Given the description of an element on the screen output the (x, y) to click on. 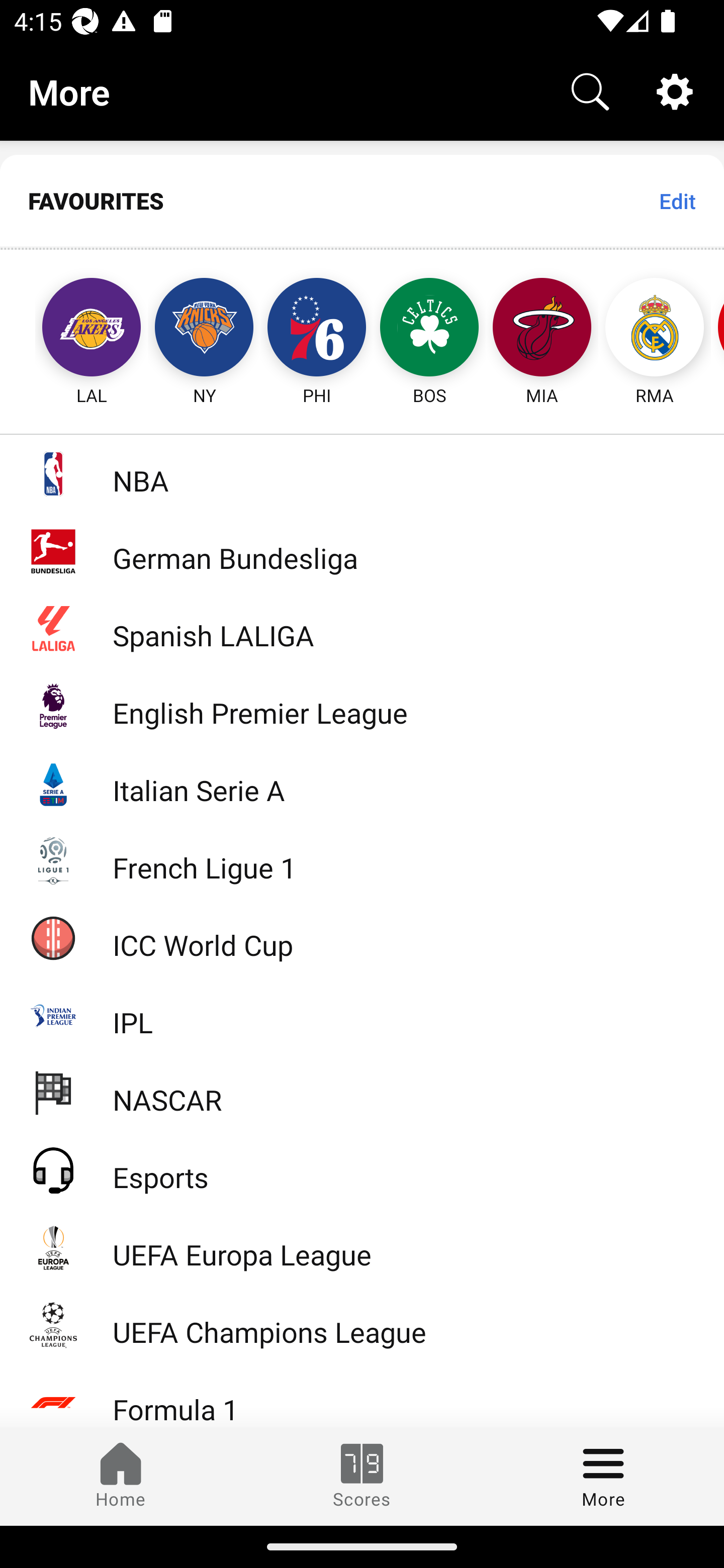
Search (590, 90)
Settings (674, 90)
Edit (676, 200)
LAL Los Angeles Lakers (73, 328)
NY New York Knicks (203, 328)
PHI Philadelphia 76ers (316, 328)
BOS Boston Celtics (428, 328)
MIA Miami Heat (541, 328)
RMA Real Madrid (654, 328)
NBA (362, 473)
German Bundesliga (362, 550)
Spanish LALIGA (362, 627)
English Premier League (362, 705)
Italian Serie A (362, 782)
French Ligue 1 (362, 859)
ICC World Cup (362, 937)
IPL (362, 1014)
NASCAR (362, 1091)
Esports (362, 1169)
UEFA Europa League (362, 1246)
UEFA Champions League (362, 1324)
Home (120, 1475)
Scores (361, 1475)
